Given the description of an element on the screen output the (x, y) to click on. 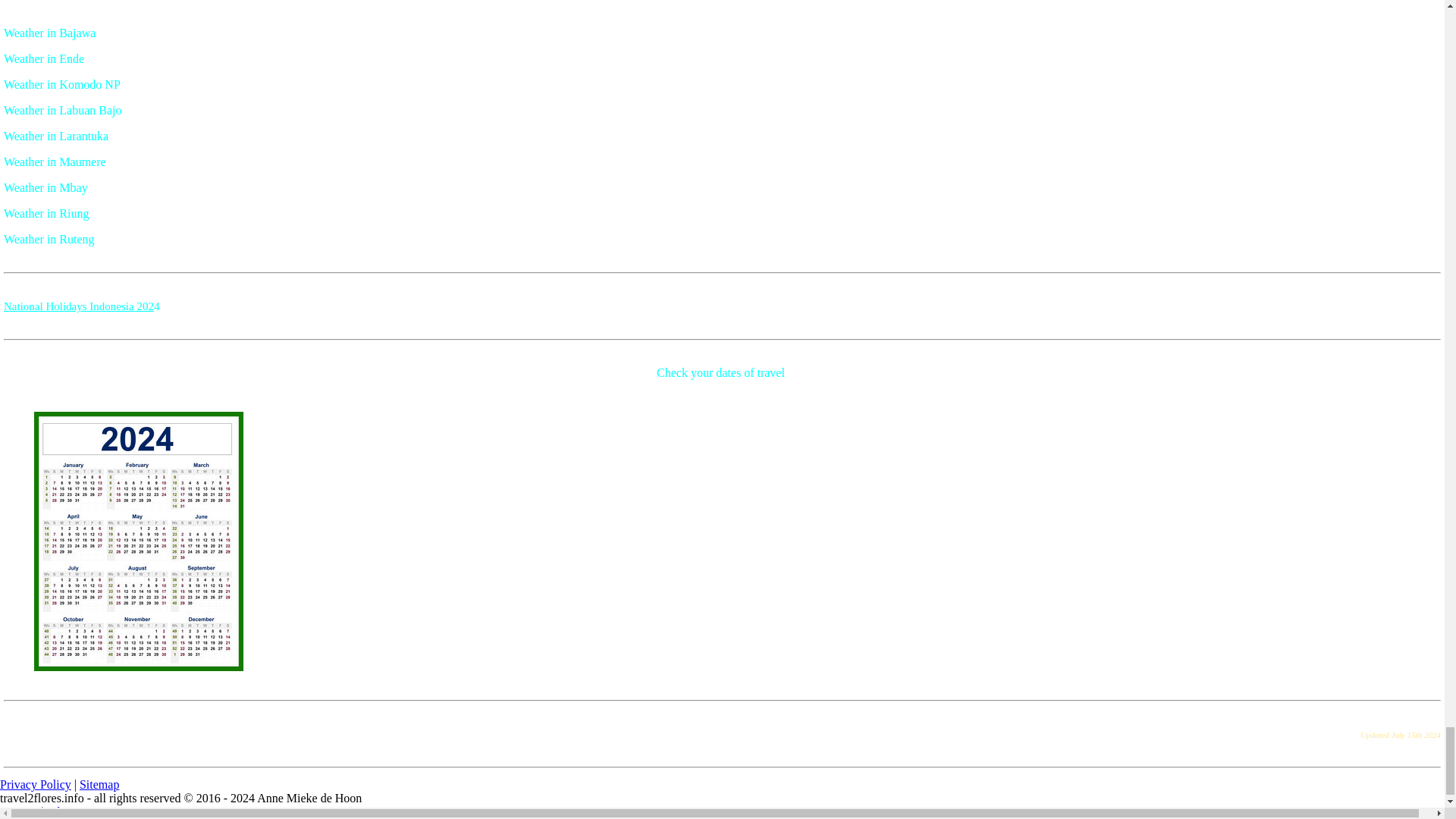
PLANNING (79, 305)
